Given the description of an element on the screen output the (x, y) to click on. 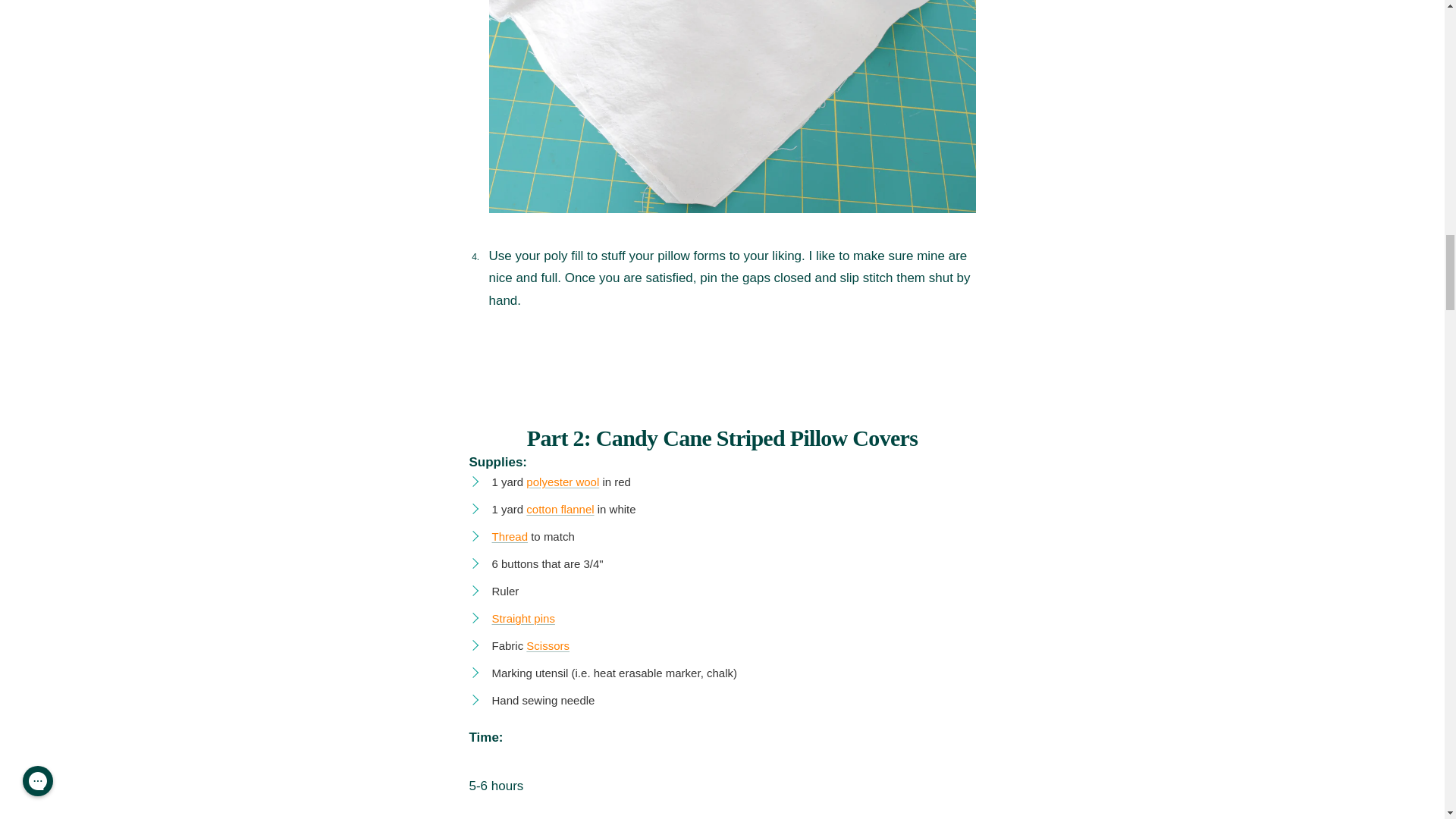
Cotton Flannel (559, 508)
Brushed Polyester Wool Coating (561, 481)
Thread (509, 535)
Scissors (547, 645)
polyester wool (561, 481)
Straight Pins (523, 617)
